Given the description of an element on the screen output the (x, y) to click on. 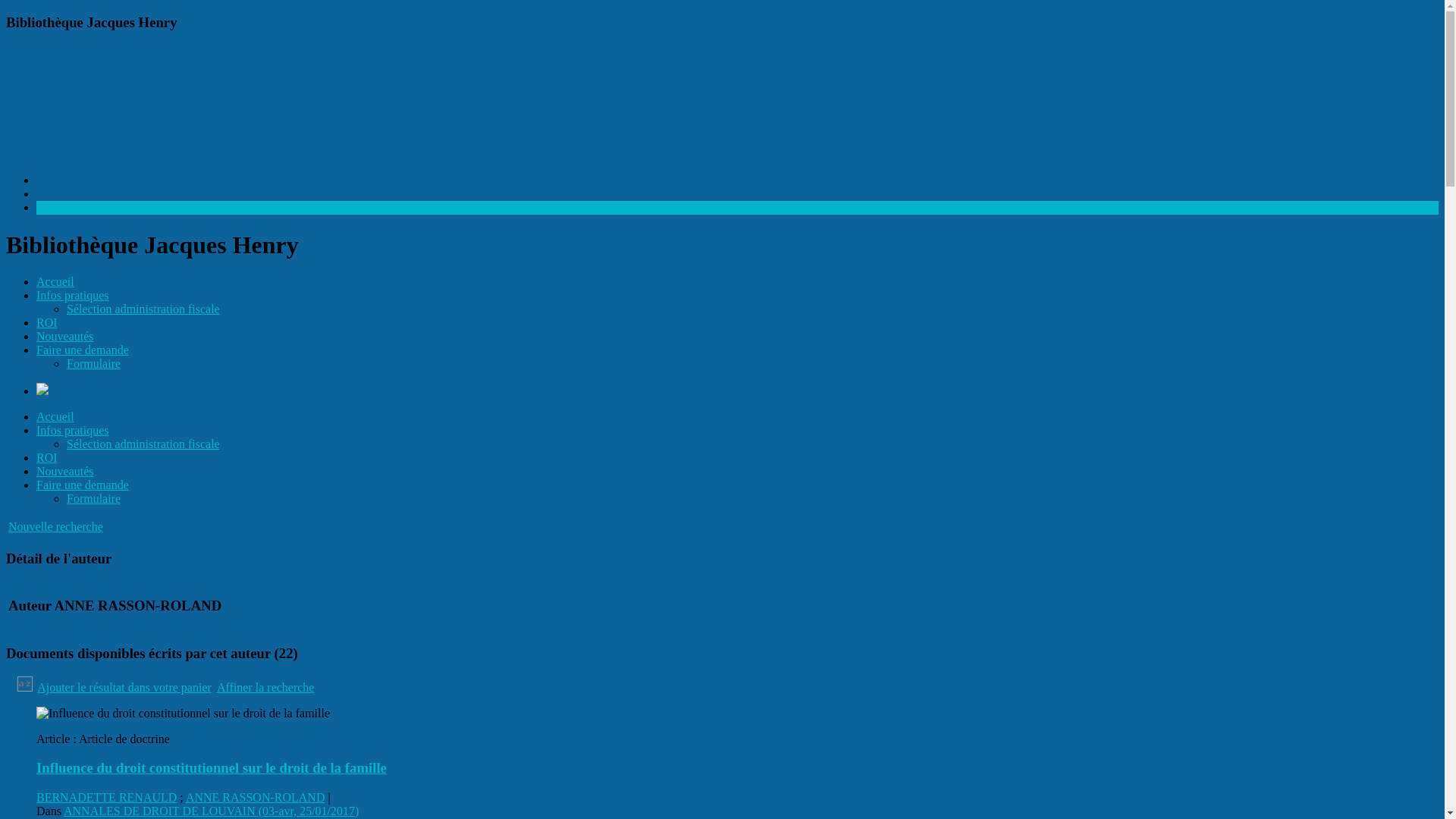
Formulaire Element type: text (93, 363)
Faire une demande Element type: text (82, 349)
Faire une demande Element type: text (82, 484)
Affiner la recherche Element type: text (265, 686)
Infos pratiques Element type: text (72, 294)
Nouvelle recherche Element type: text (55, 526)
Infos pratiques Element type: text (72, 429)
Accueil Element type: text (55, 416)
BERNADETTE RENAULD Element type: text (106, 796)
ROI Element type: text (46, 322)
ANNE RASSON-ROLAND Element type: text (255, 796)
Tris disponibles Element type: hover (26, 686)
ROI Element type: text (46, 457)
Accueil Element type: text (55, 281)
Formulaire Element type: text (93, 498)
ANNALES DE DROIT DE LOUVAIN (03-avr, 25/01/2017) Element type: text (210, 810)
